Given the description of an element on the screen output the (x, y) to click on. 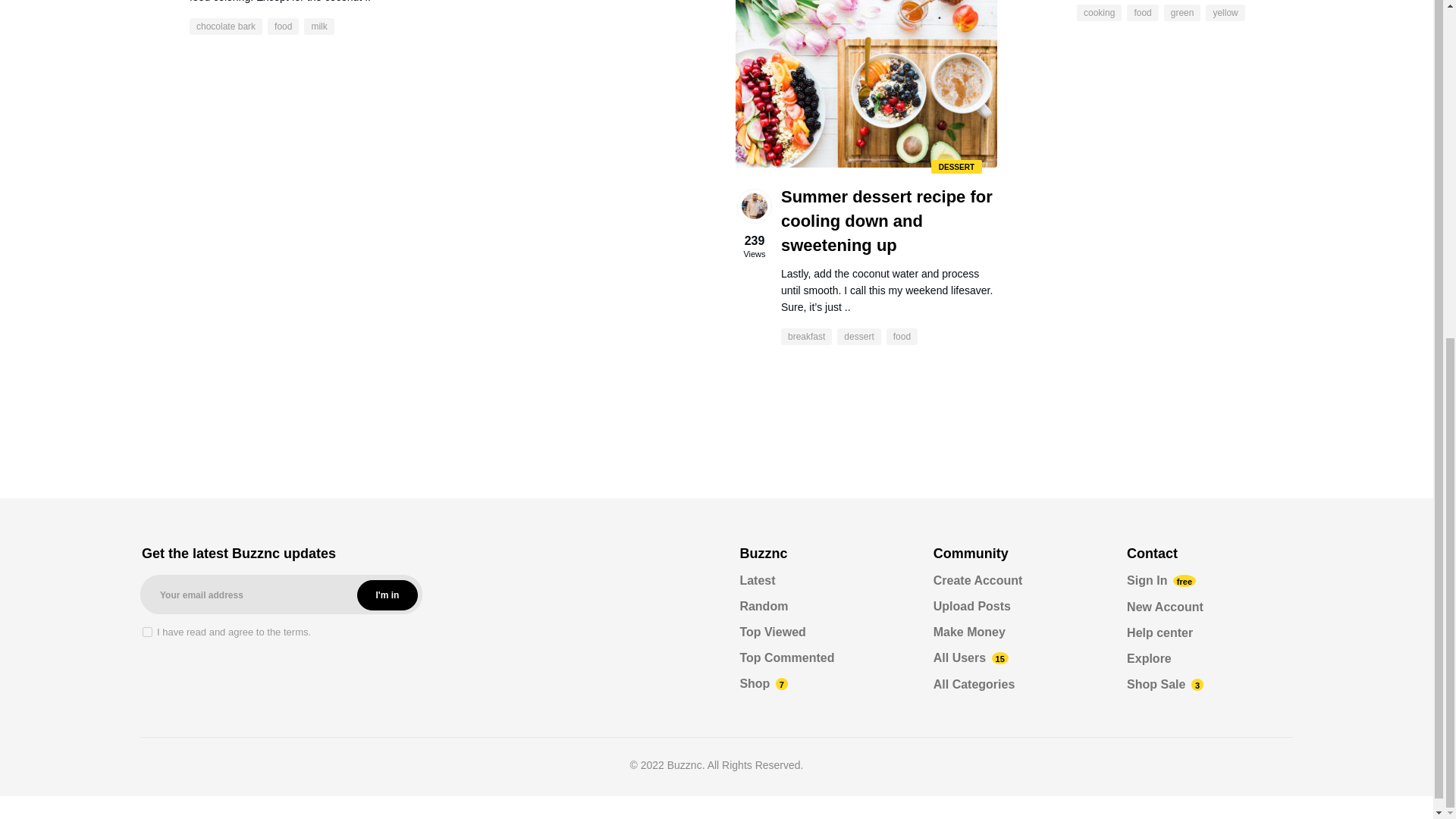
I'm in (386, 594)
1 (147, 631)
